Given the description of an element on the screen output the (x, y) to click on. 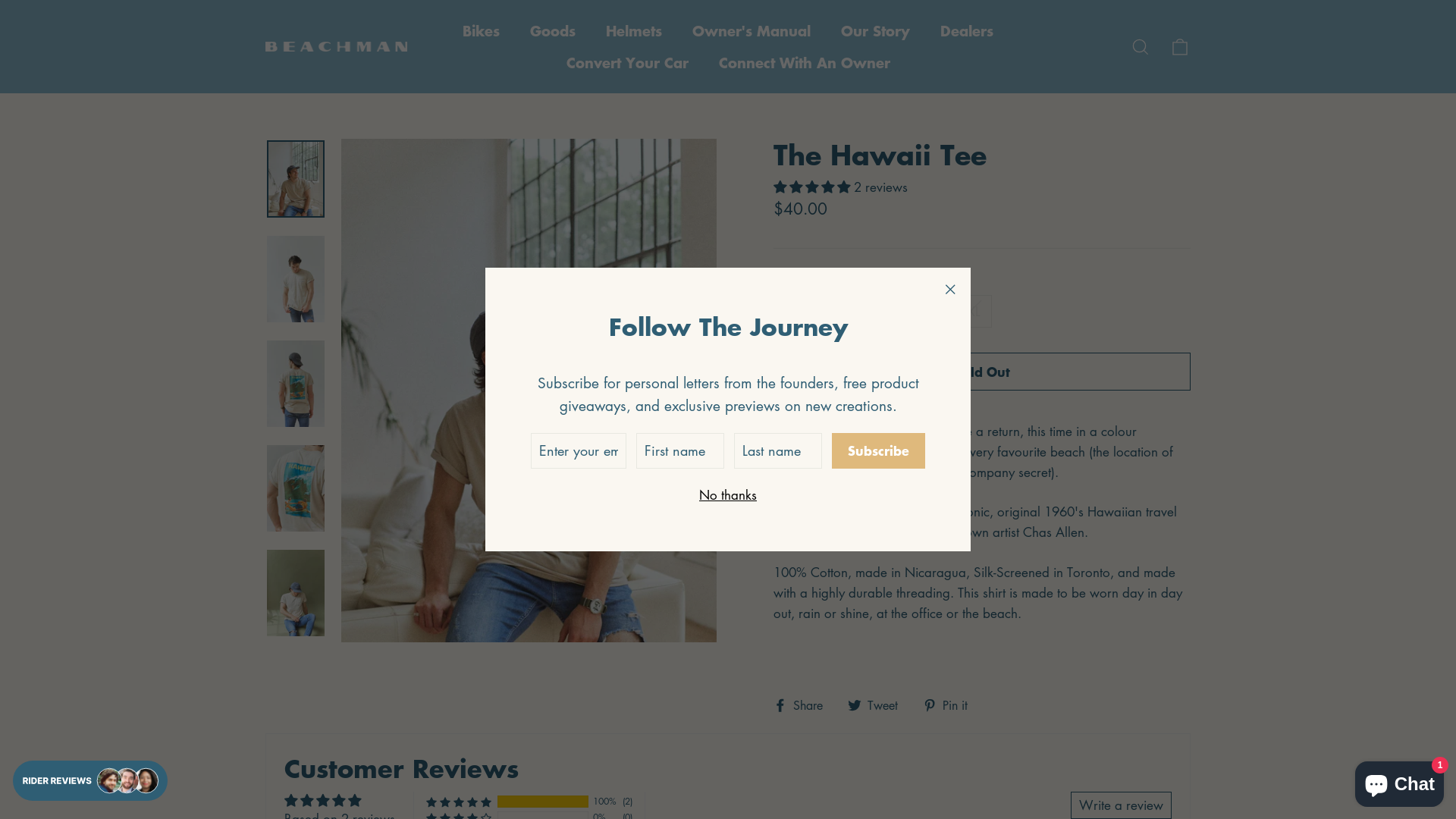
Our Story Element type: text (875, 31)
Owner's Manual Element type: text (751, 31)
No thanks Element type: text (727, 494)
Sold Out Element type: text (981, 371)
Skip to content Element type: text (0, 0)
Share
Share on Facebook Element type: text (803, 704)
Cart Element type: text (1179, 46)
Search Element type: text (1140, 46)
Dealers Element type: text (966, 31)
Bikes Element type: text (480, 31)
Tweet
Tweet on Twitter Element type: text (878, 704)
Shopify online store chat Element type: hover (1399, 780)
"Close (esc)" Element type: text (949, 288)
Convert Your Car Element type: text (626, 62)
Subscribe Element type: text (878, 450)
Pin it
Pin on Pinterest Element type: text (950, 704)
Connect With An Owner Element type: text (804, 62)
Goods Element type: text (552, 31)
Helmets Element type: text (633, 31)
